Given the description of an element on the screen output the (x, y) to click on. 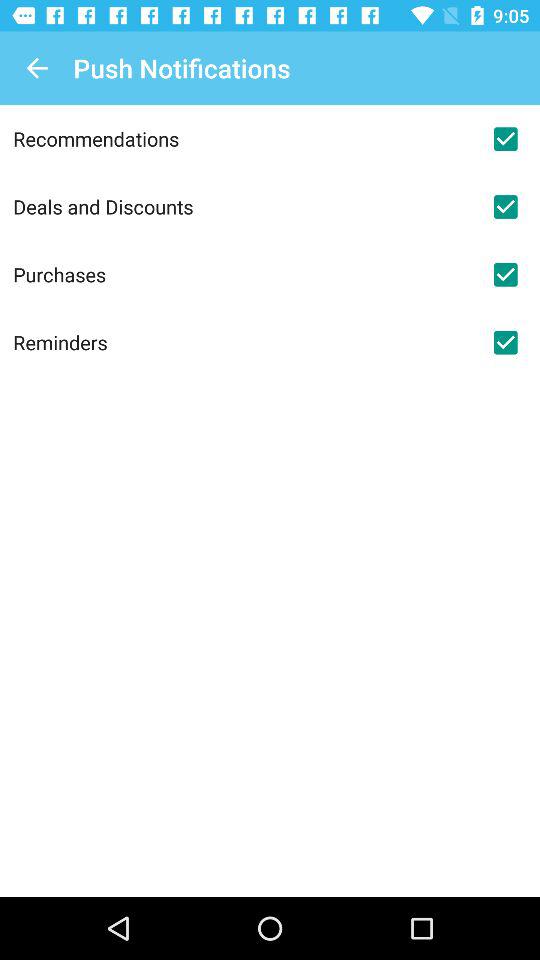
choose icon to the left of push notifications (36, 68)
